Given the description of an element on the screen output the (x, y) to click on. 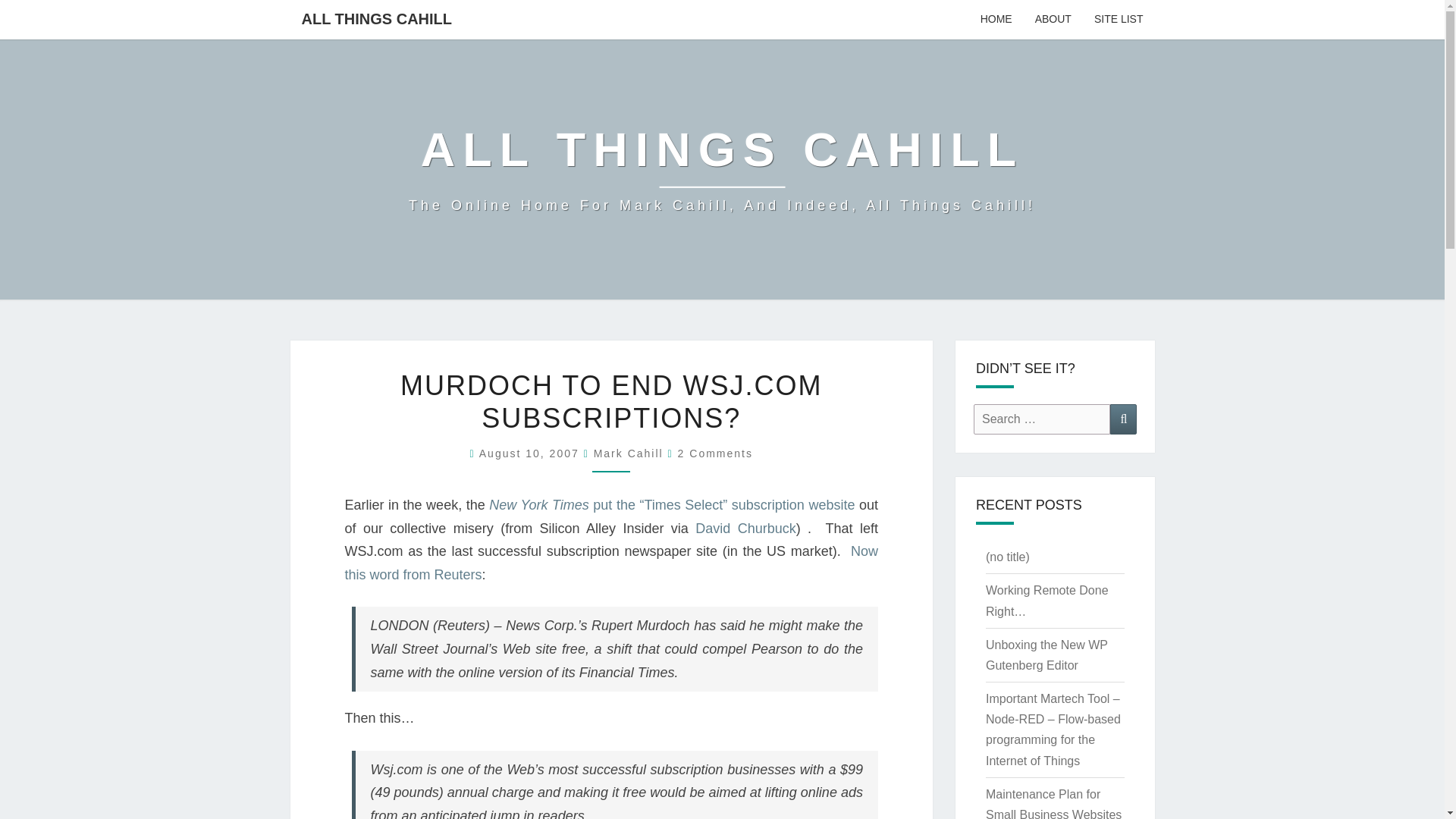
Now this word from Reuters (610, 562)
View all posts by Mark Cahill (628, 453)
ALL THINGS CAHILL (376, 18)
4:15 pm (531, 453)
Search for: (1041, 419)
All Things Cahill (722, 169)
Mark Cahill (628, 453)
Unboxing the New WP Gutenberg Editor (1046, 654)
Search (1123, 419)
